Given the description of an element on the screen output the (x, y) to click on. 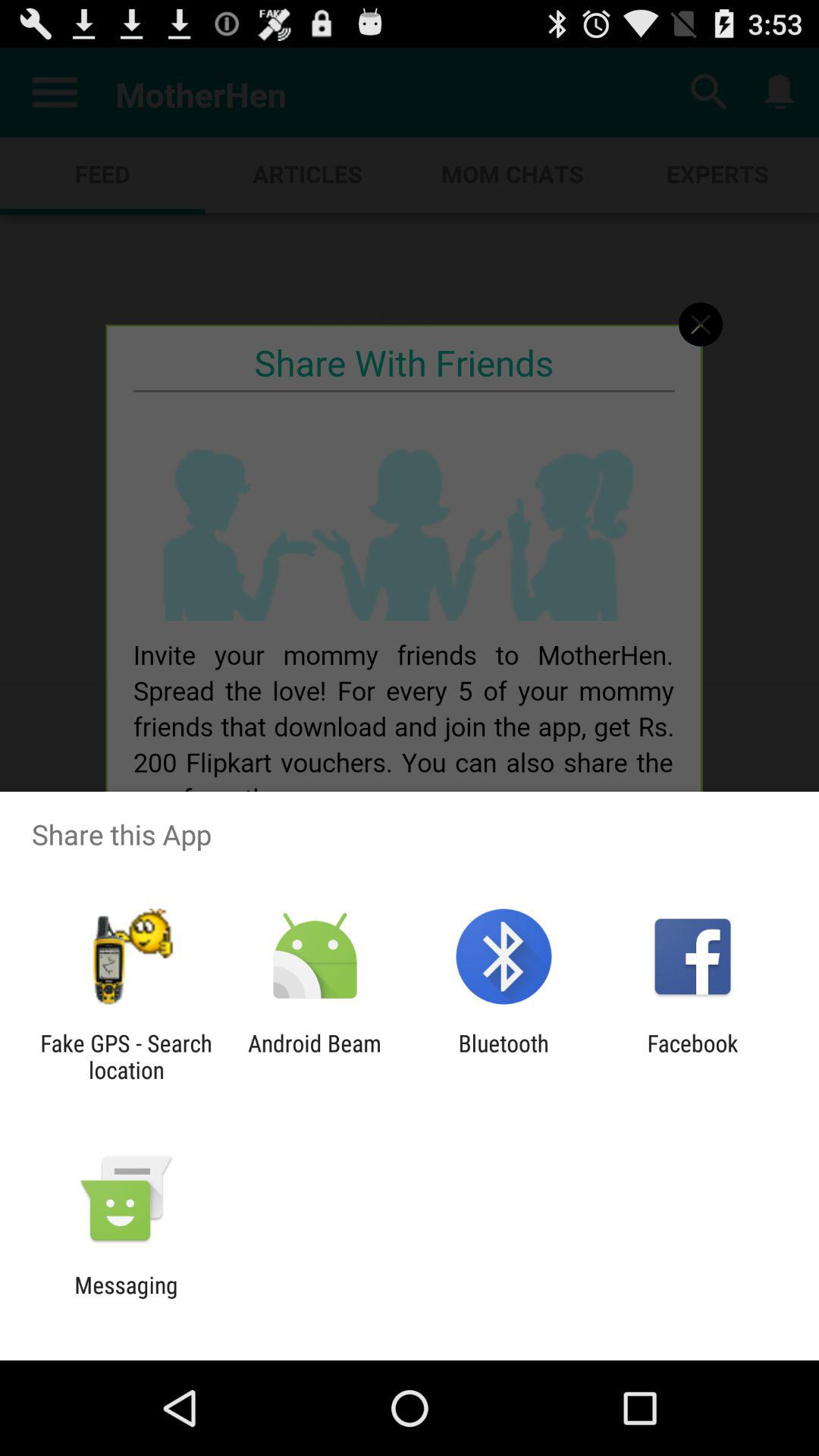
swipe until the facebook app (692, 1056)
